Given the description of an element on the screen output the (x, y) to click on. 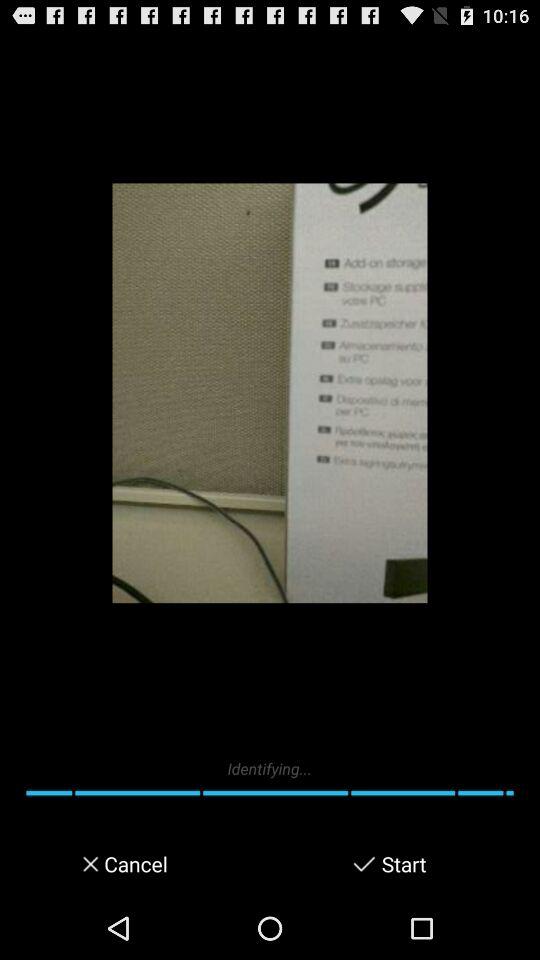
press app next to the start (363, 863)
